Given the description of an element on the screen output the (x, y) to click on. 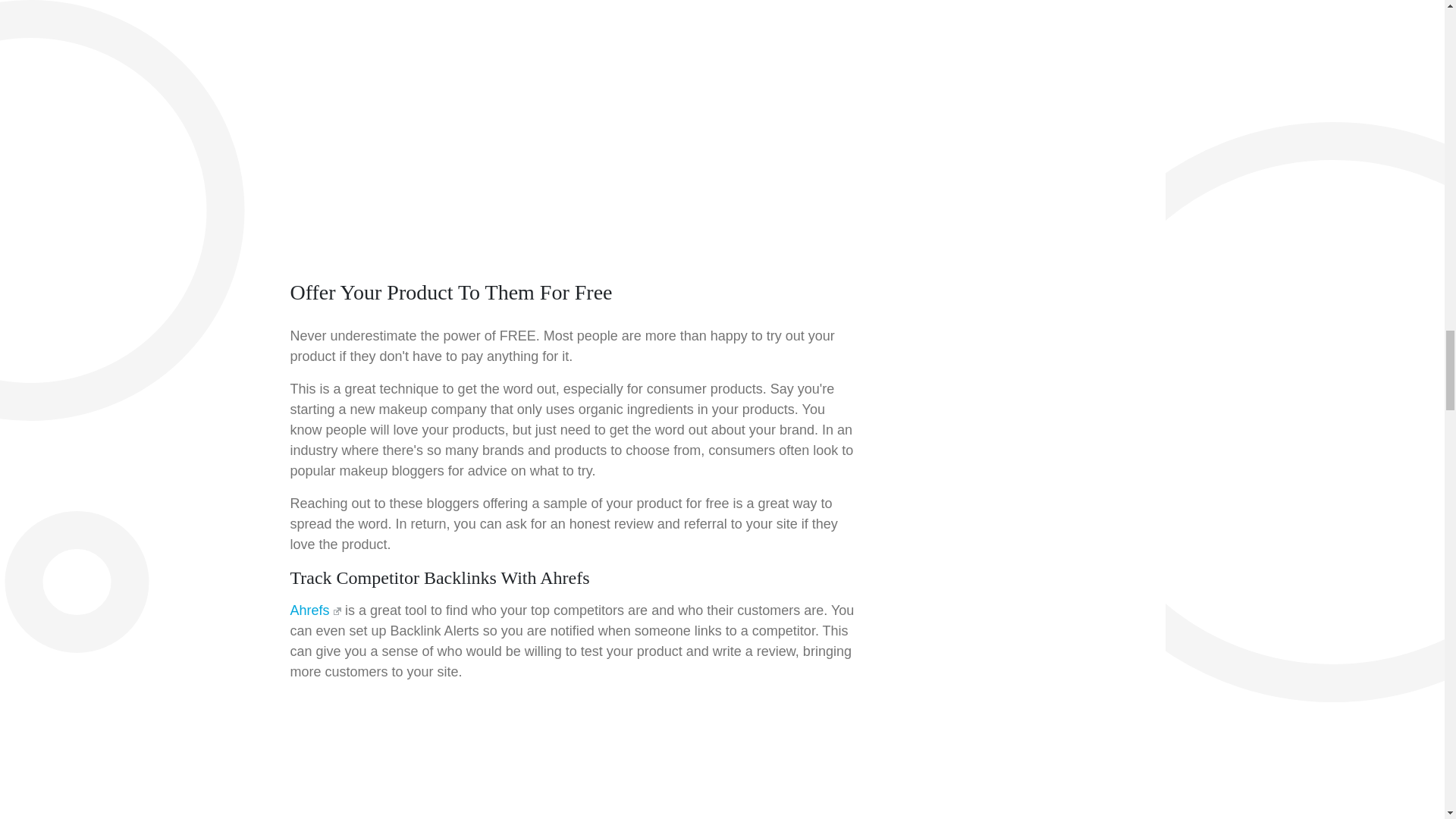
Ahrefs (314, 610)
